Given the description of an element on the screen output the (x, y) to click on. 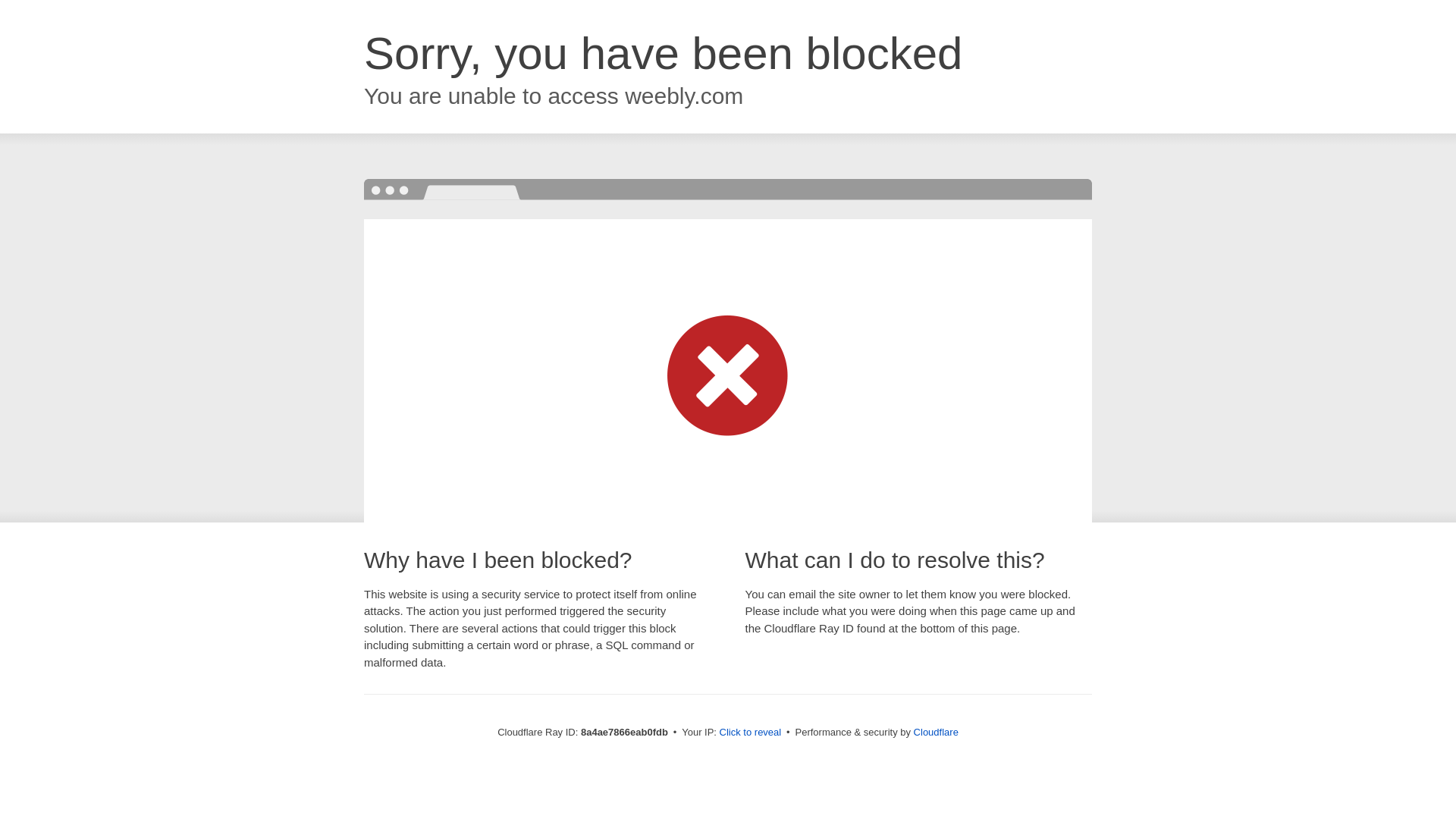
Cloudflare (936, 731)
Click to reveal (750, 732)
